Given the description of an element on the screen output the (x, y) to click on. 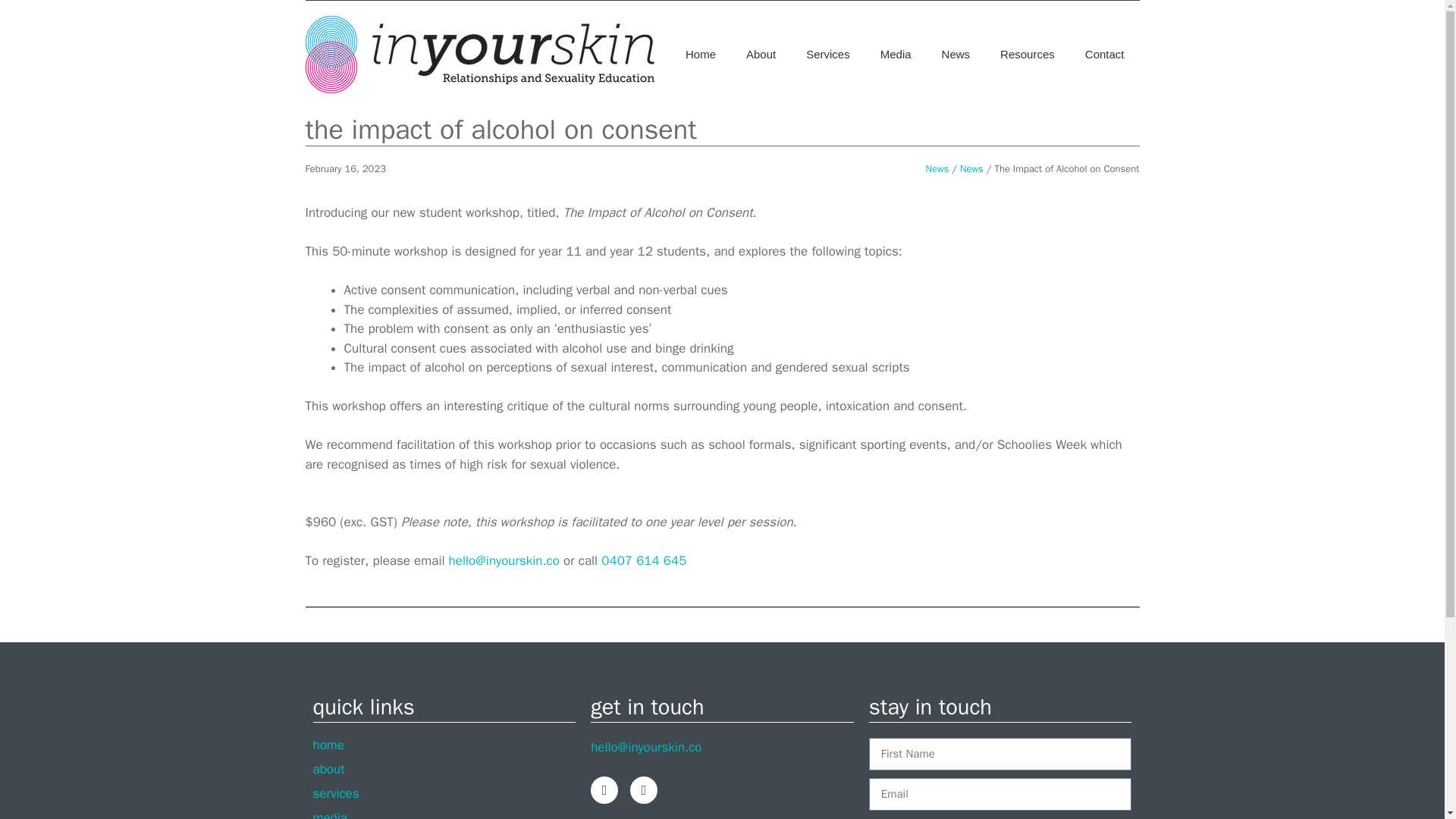
Services (827, 53)
services (444, 793)
0407 614 645 (643, 560)
about (444, 769)
home (444, 744)
About (760, 53)
Media (895, 53)
media (444, 814)
News (936, 168)
News (971, 168)
February 16, 2023 (344, 168)
Contact (1105, 53)
Home (699, 53)
News (955, 53)
Resources (1027, 53)
